Given the description of an element on the screen output the (x, y) to click on. 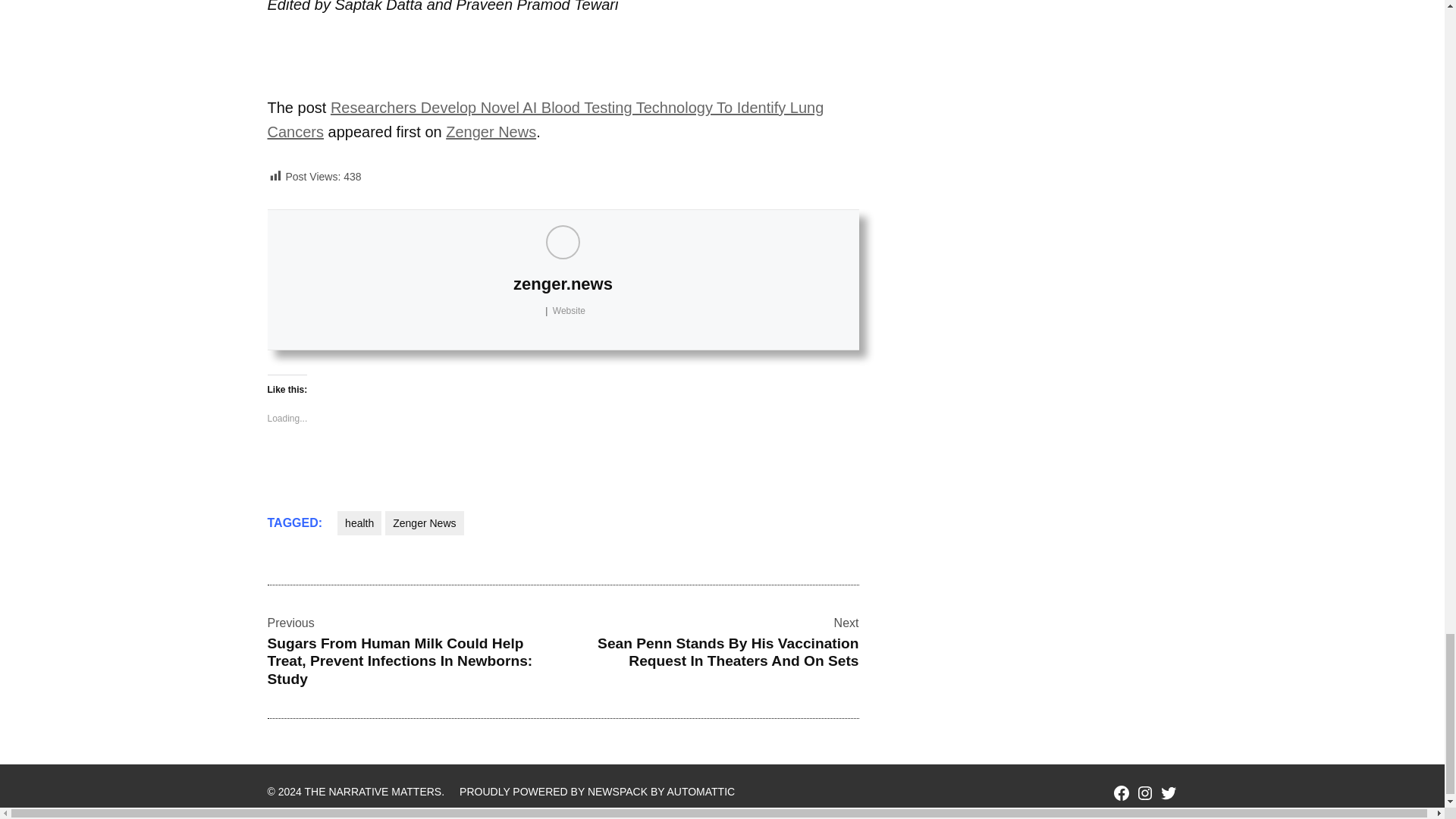
Zenger News (490, 131)
